Given the description of an element on the screen output the (x, y) to click on. 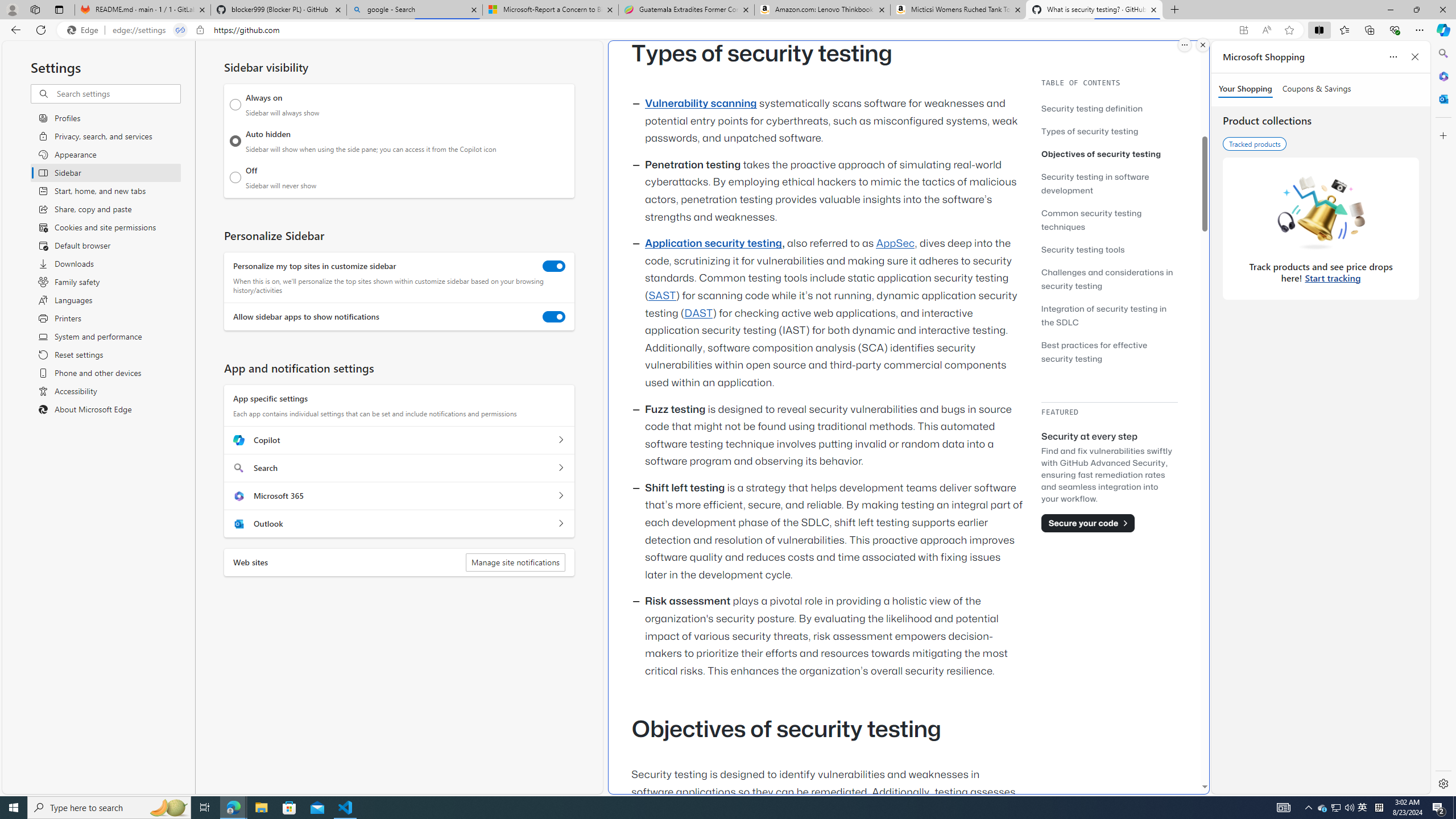
Copilot (560, 439)
Edge (84, 29)
Always on Sidebar will always show (235, 104)
Objectives of security testing (1101, 153)
App bar (728, 29)
Integration of security testing in the SDLC (1104, 314)
SAST (661, 295)
DAST (698, 312)
Address and search bar (672, 29)
Personalize my top sites in customize sidebar (553, 265)
